Given the description of an element on the screen output the (x, y) to click on. 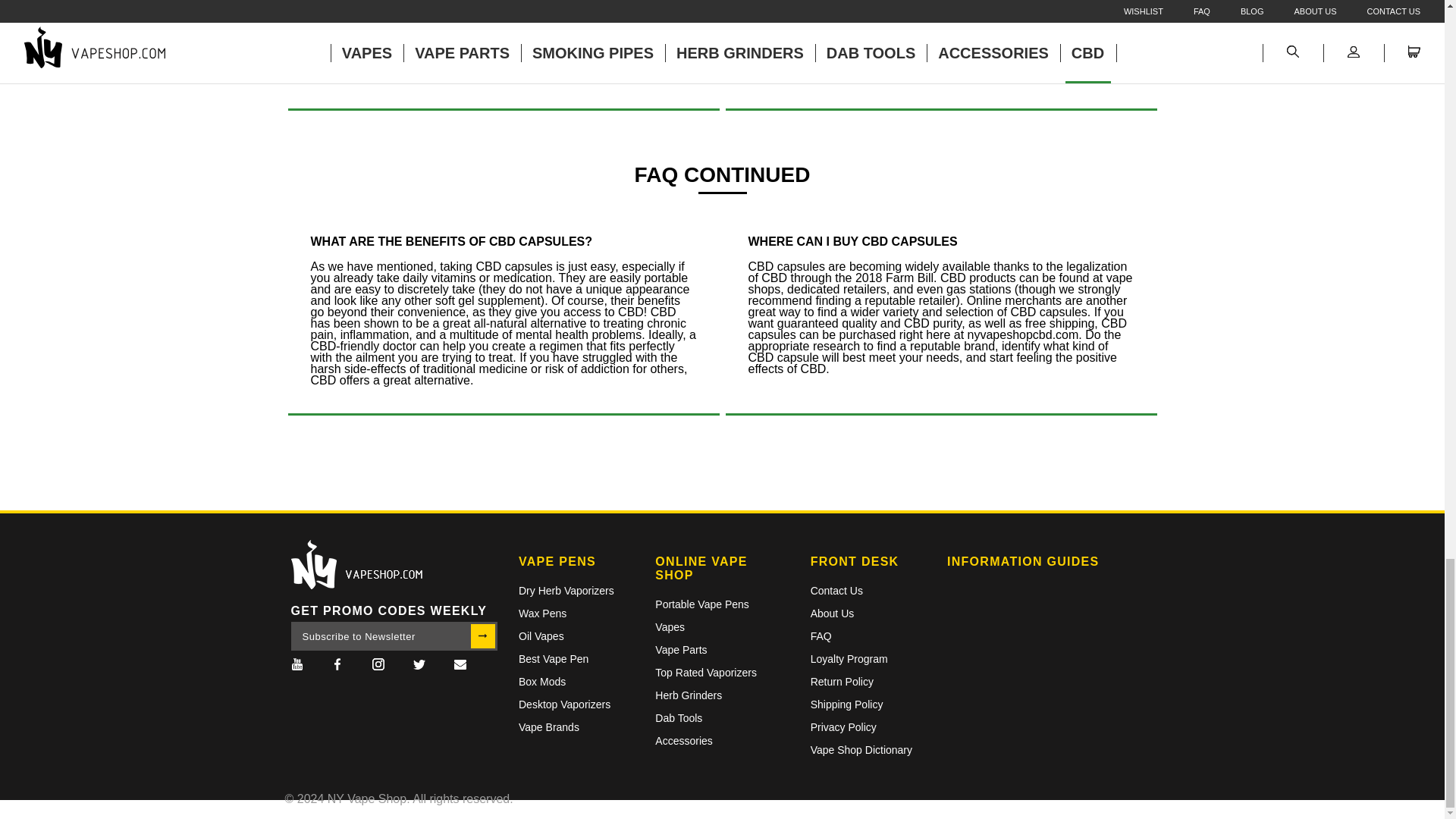
Twitter (419, 665)
Youtube (296, 665)
Contact Us (459, 665)
Facebook (337, 665)
Home Page (394, 563)
Instagram (378, 665)
